Given the description of an element on the screen output the (x, y) to click on. 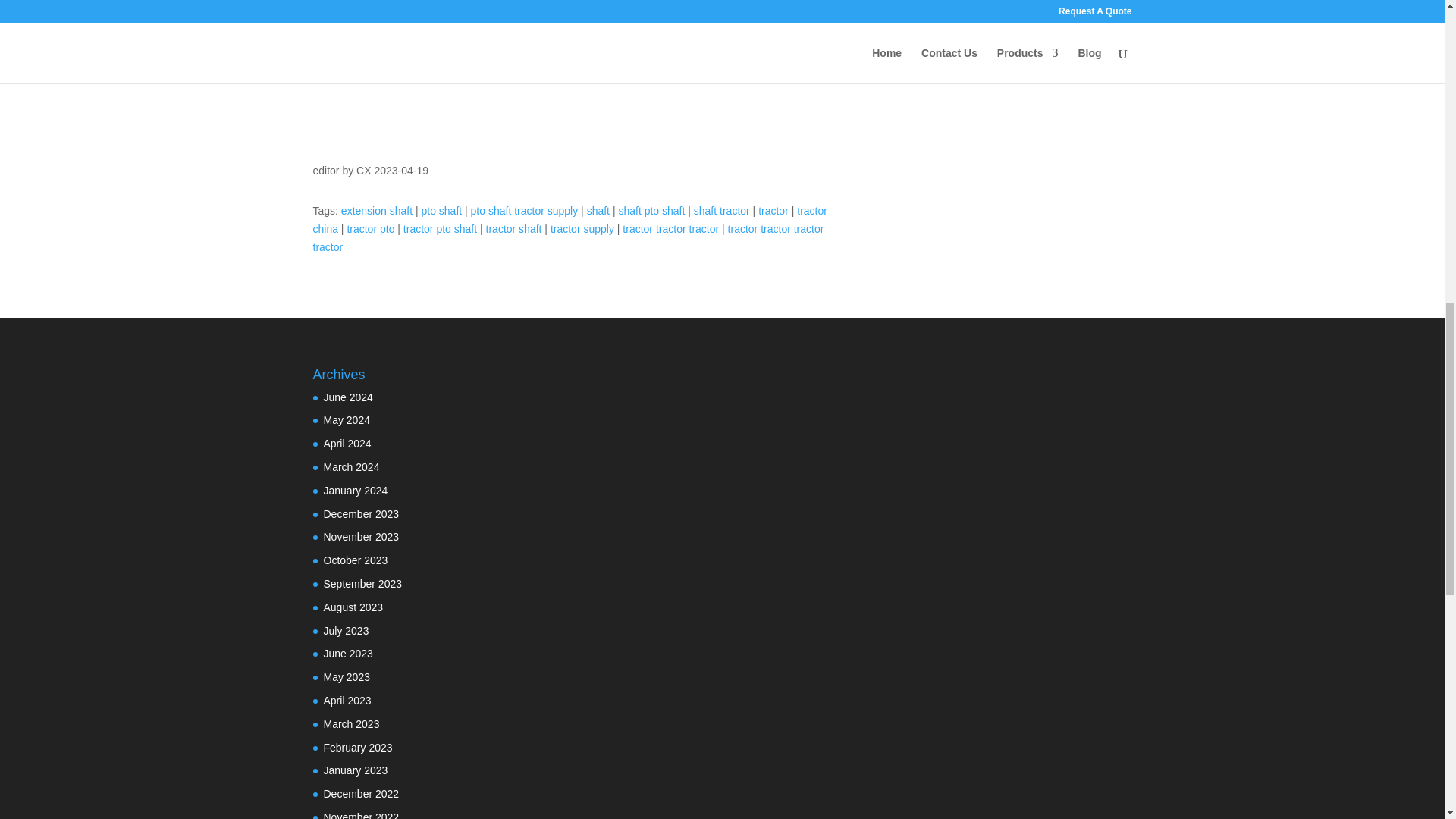
shaft tractor (721, 210)
January 2024 (355, 490)
pto shaft tractor supply (524, 210)
tractor pto shaft (440, 228)
December 2023 (360, 513)
shaft (598, 210)
April 2024 (347, 443)
shaft pto shaft (650, 210)
tractor supply (582, 228)
May 2024 (346, 419)
tractor shaft (513, 228)
June 2024 (347, 397)
tractor tractor tractor (671, 228)
tractor china (570, 219)
tractor pto (370, 228)
